Given the description of an element on the screen output the (x, y) to click on. 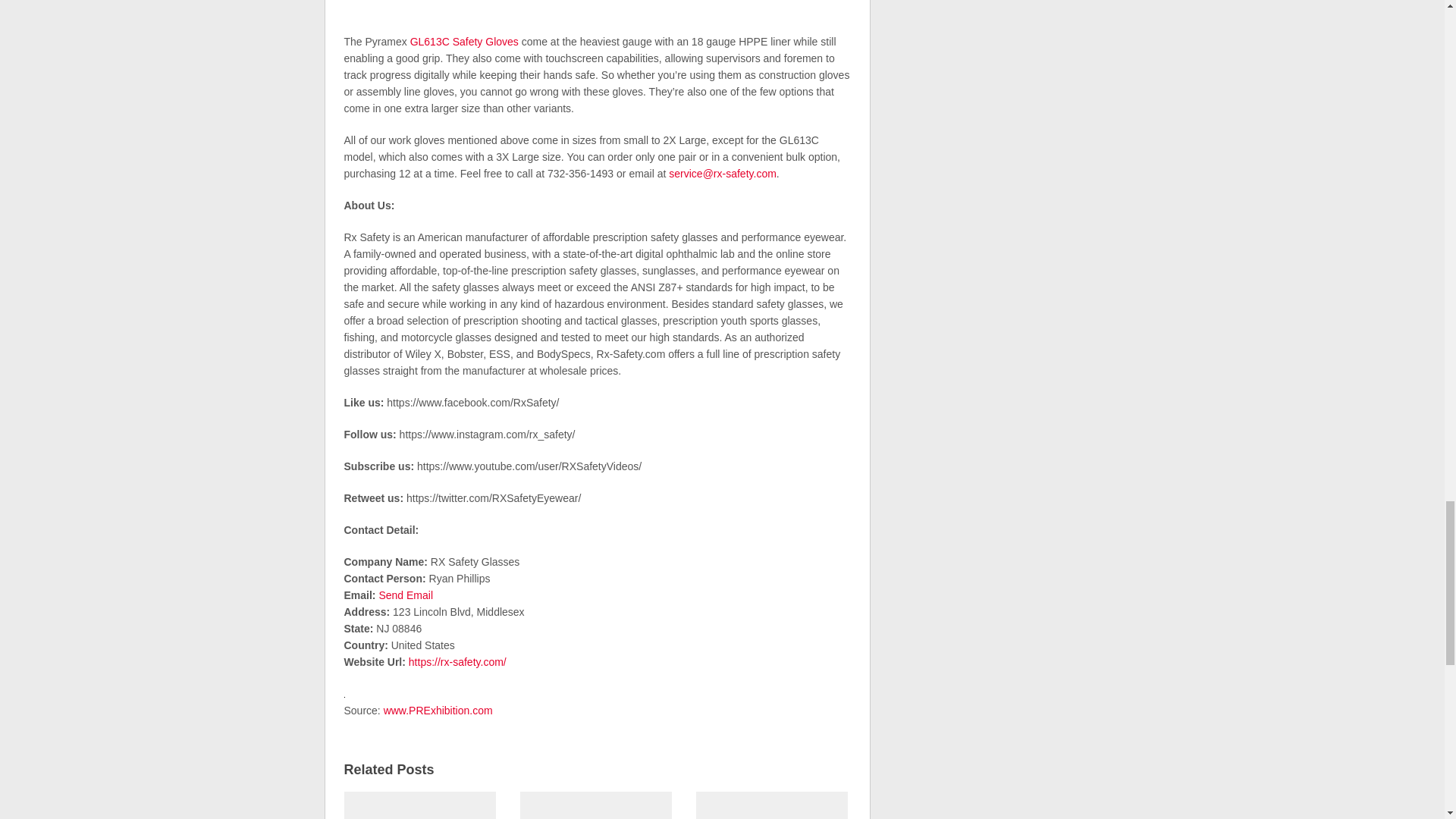
Guide to Finding Clip-On Sunglasses that Fit: 5 Steps (771, 803)
Guide to Finding Clip-On Sunglasses that Fit: 5 Steps (771, 803)
www.PRExhibition.com (438, 710)
GL613C Safety Gloves (464, 41)
Send Email (405, 594)
My Pre-Existence proves GOD exists (595, 803)
My Pre-Existence proves GOD exists (595, 803)
